Given the description of an element on the screen output the (x, y) to click on. 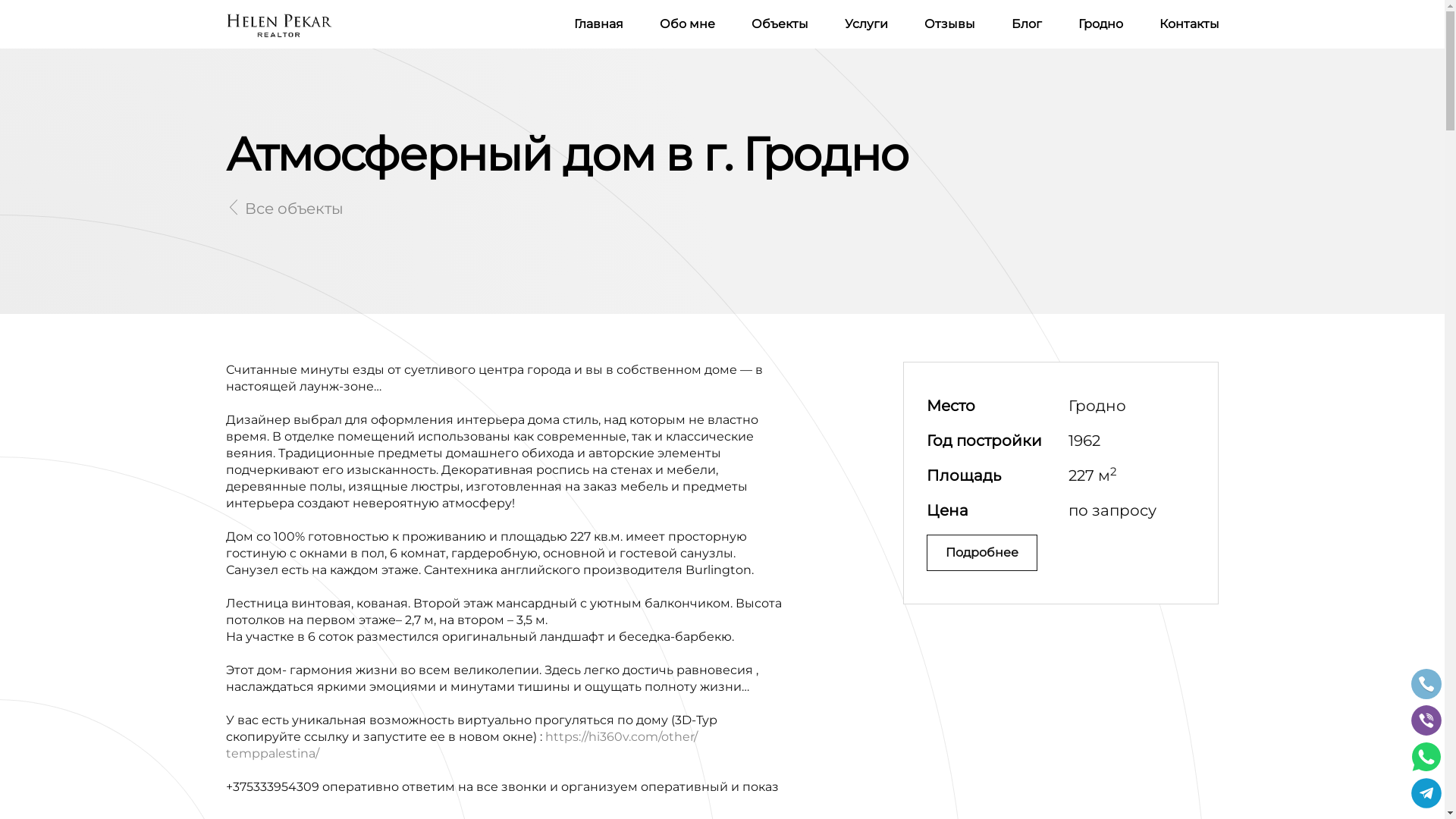
https://hi360v.com/other/temppalestina/ Element type: text (461, 744)
